Given the description of an element on the screen output the (x, y) to click on. 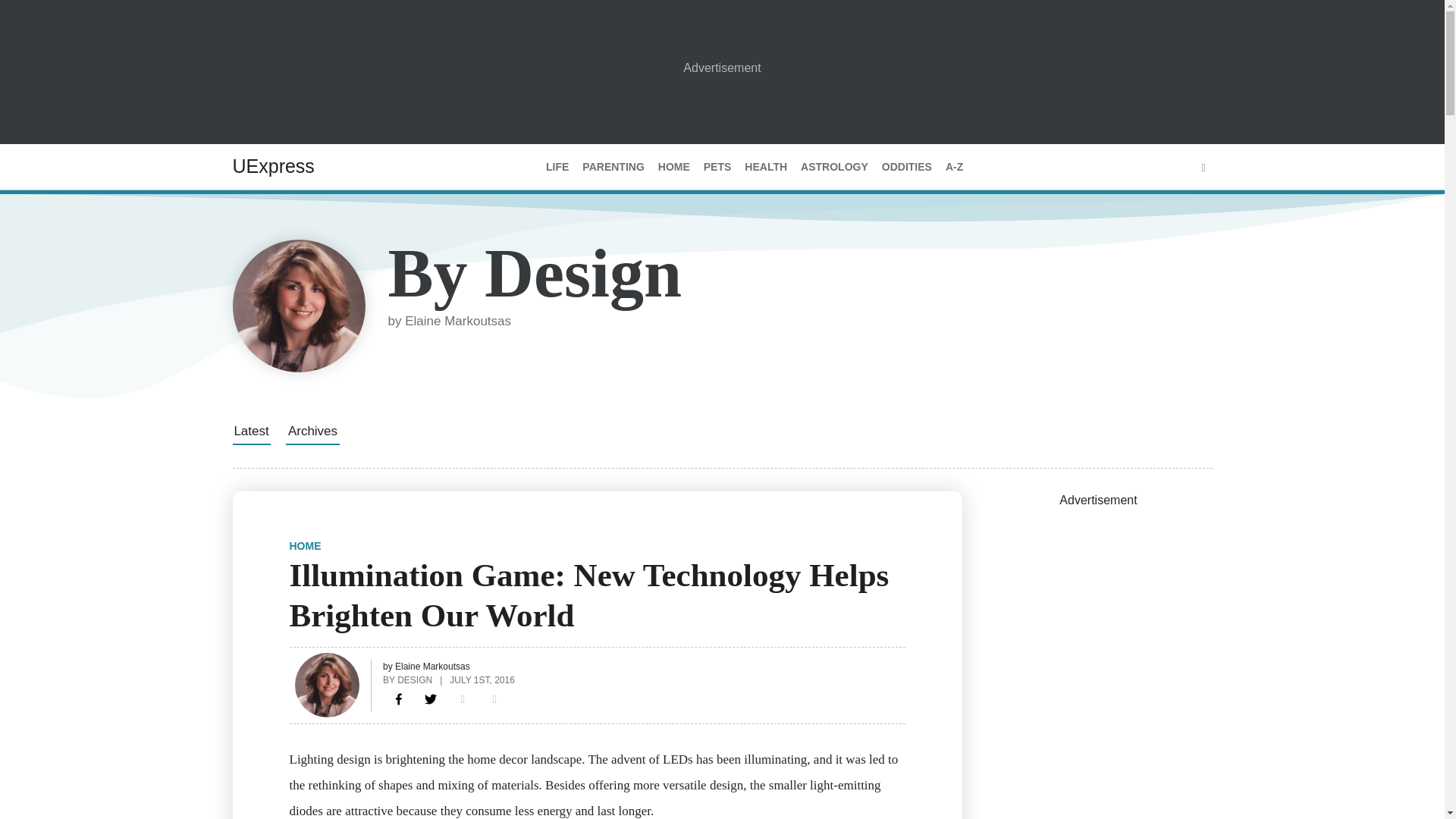
HOME (305, 545)
HEALTH (765, 166)
UExpress (272, 166)
Latest (251, 431)
PARENTING (612, 166)
ODDITIES (907, 166)
Illumination Game: New Technology Helps Brighten Our World (398, 699)
Archives (312, 431)
BY DESIGN (407, 680)
PETS (717, 166)
